Given the description of an element on the screen output the (x, y) to click on. 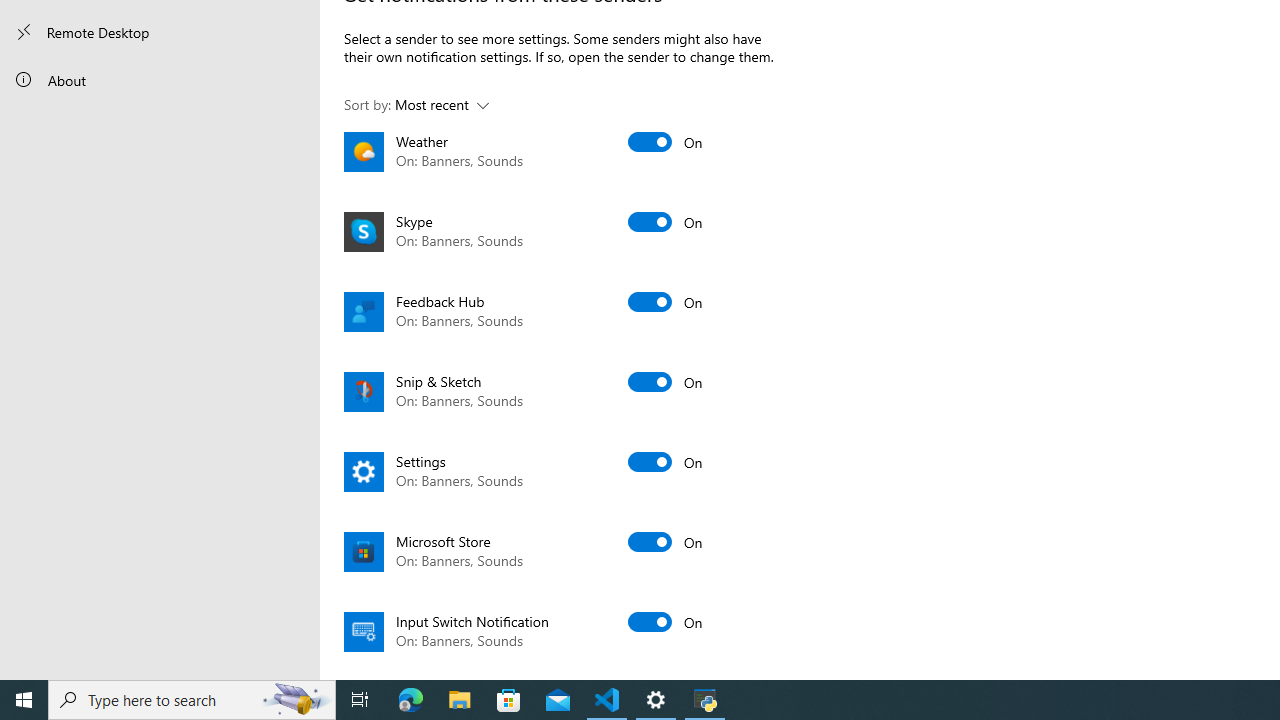
Microsoft Edge (411, 699)
Task View (359, 699)
Settings - 1 running window (656, 699)
Visual Studio Code - 1 running window (607, 699)
File Explorer (460, 699)
Microsoft Store (509, 699)
Search highlights icon opens search home window (295, 699)
Start (24, 699)
Type here to search (191, 699)
